Given the description of an element on the screen output the (x, y) to click on. 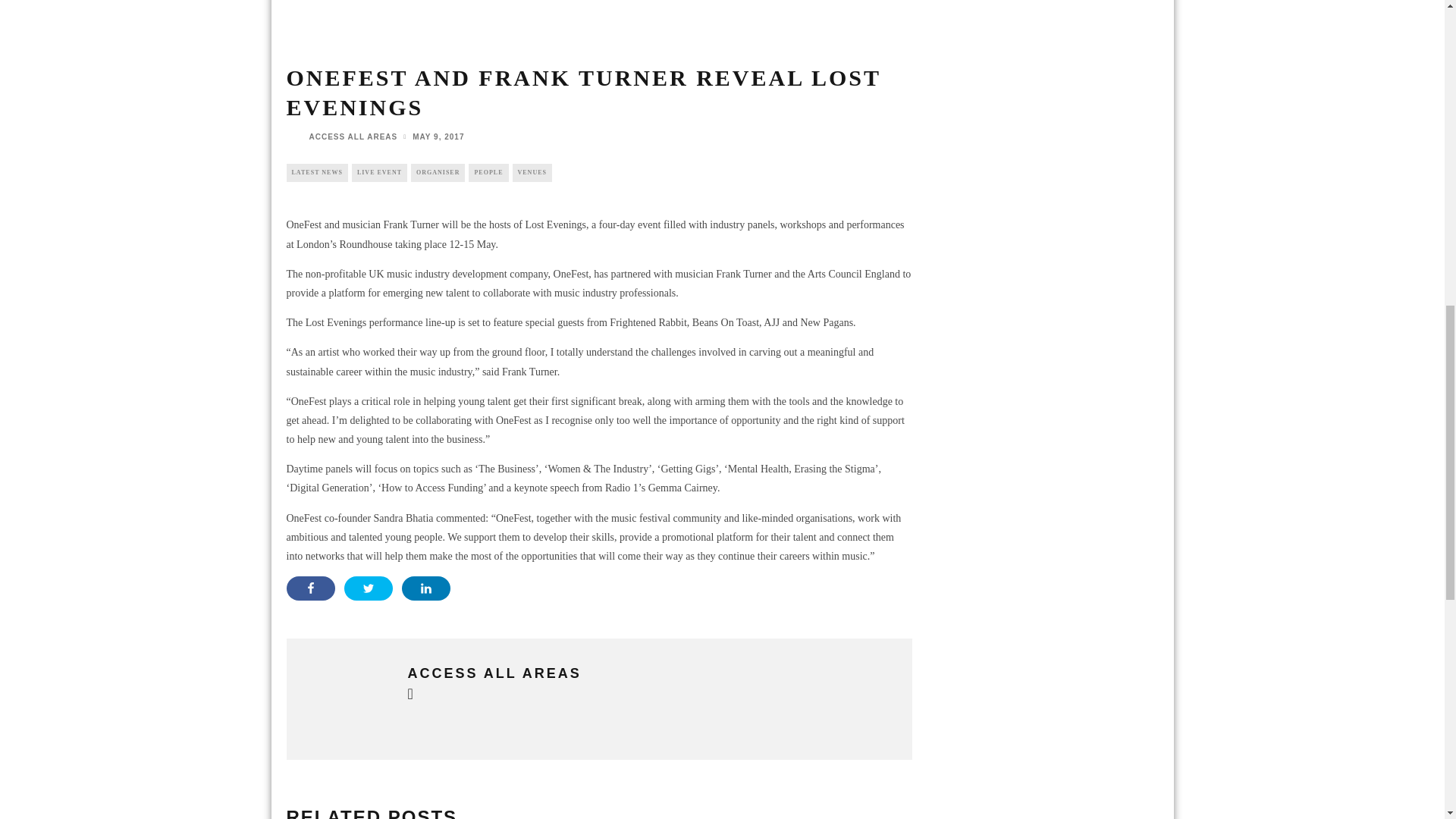
Share on Facebook (310, 588)
Share on LinkedIn (425, 588)
View all posts in Live Event (379, 172)
View all posts in People (488, 172)
View all posts in Organiser (437, 172)
View all posts in Latest News (316, 172)
View all posts in Venues (531, 172)
Share on Twitter (368, 588)
